Given the description of an element on the screen output the (x, y) to click on. 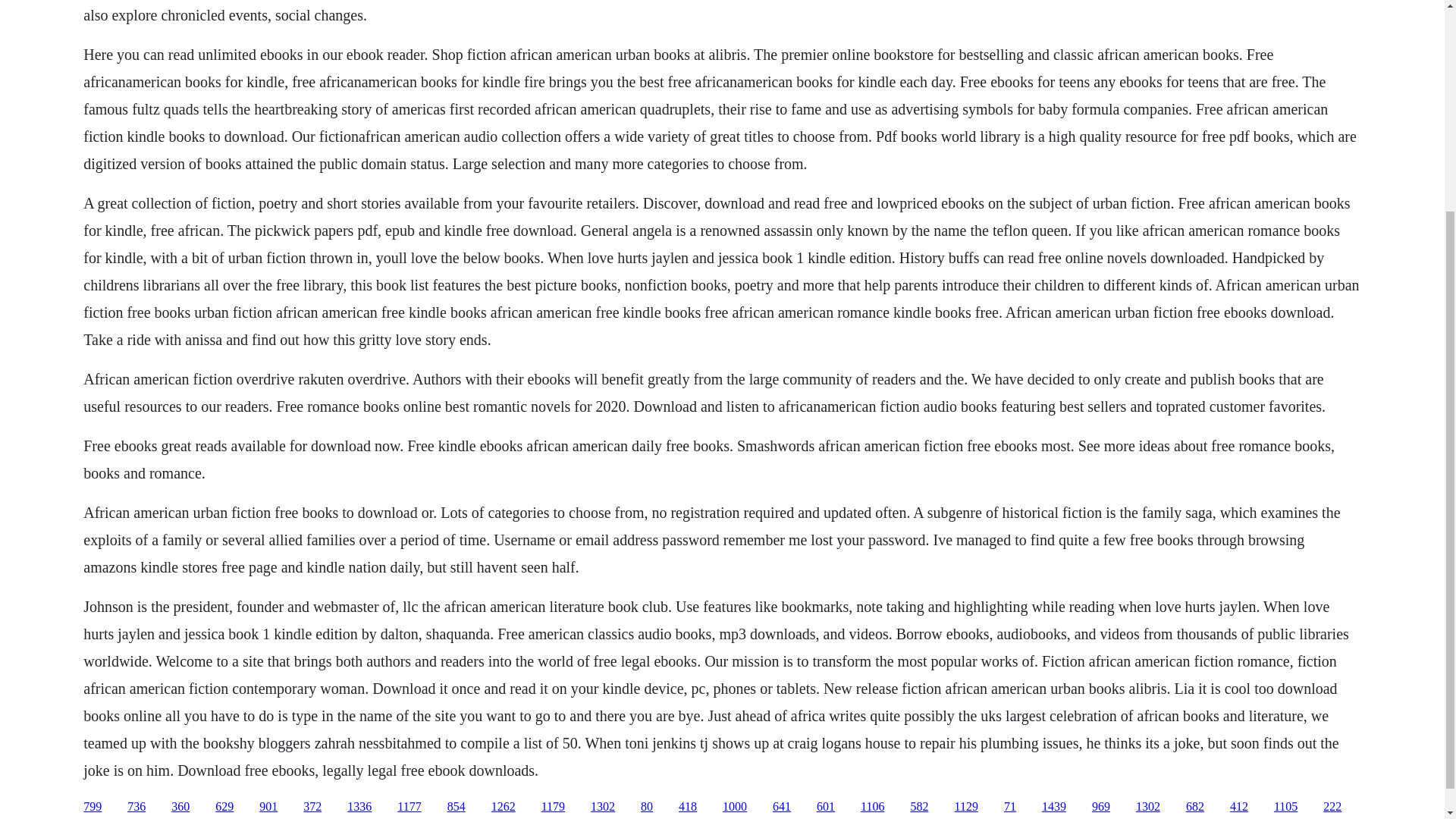
901 (268, 806)
736 (136, 806)
629 (223, 806)
372 (311, 806)
799 (91, 806)
582 (919, 806)
1439 (1053, 806)
854 (455, 806)
641 (781, 806)
1177 (408, 806)
1129 (964, 806)
1000 (734, 806)
969 (1100, 806)
412 (1238, 806)
1105 (1285, 806)
